Given the description of an element on the screen output the (x, y) to click on. 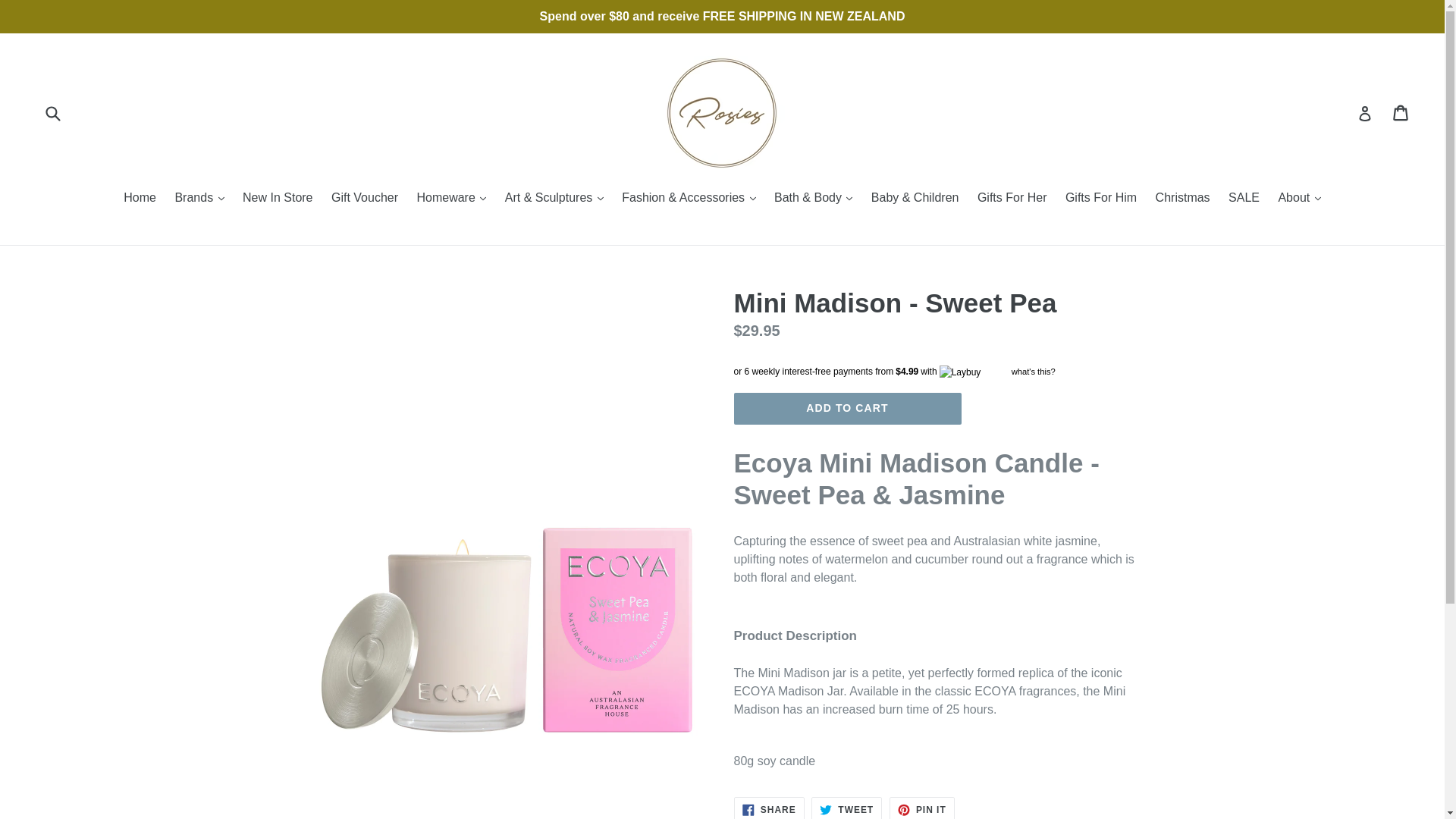
Tweet on Twitter (846, 807)
Pin on Pinterest (922, 807)
Share on Facebook (769, 807)
